Given the description of an element on the screen output the (x, y) to click on. 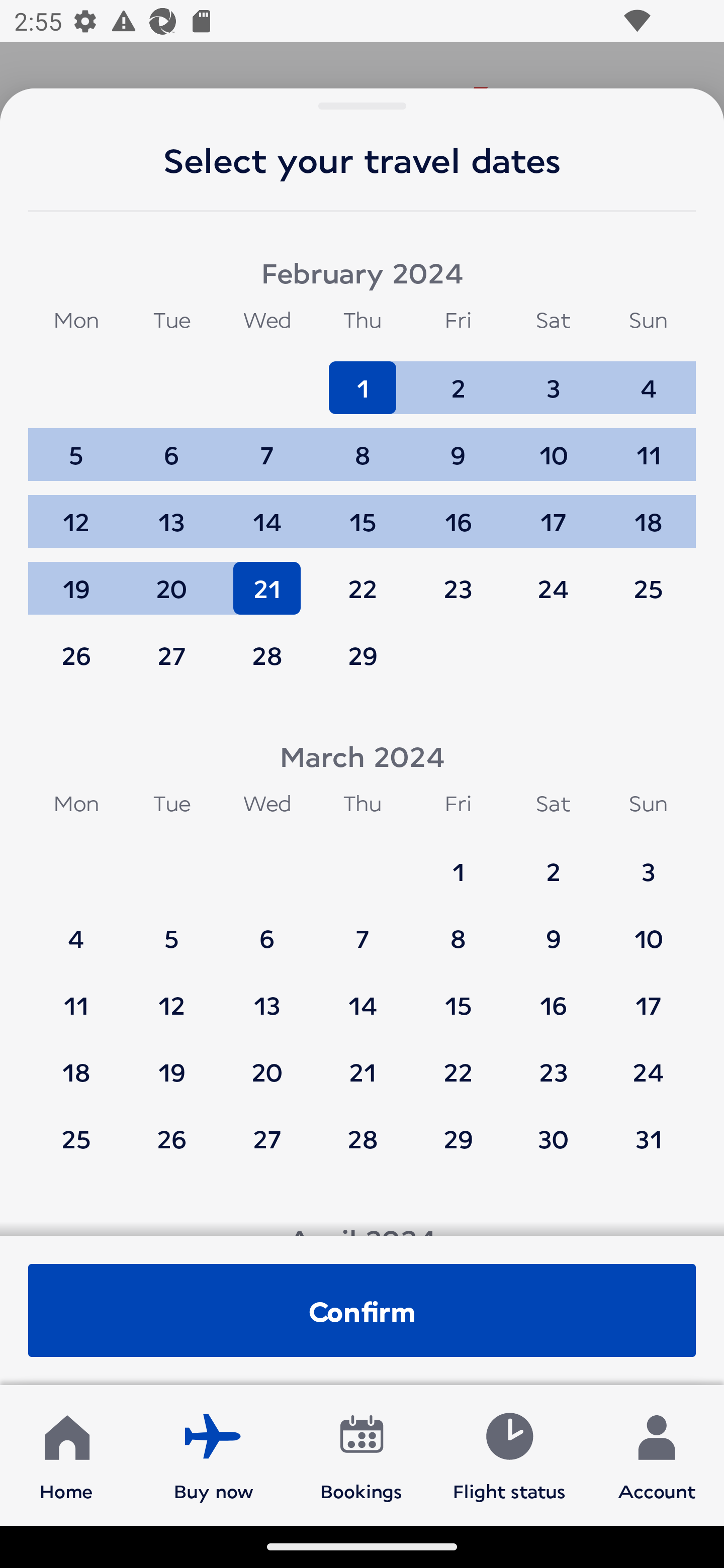
1 (362, 379)
2 (458, 379)
3 (553, 379)
4 (647, 379)
5 (75, 445)
6 (171, 445)
7 (266, 445)
8 (362, 445)
9 (458, 445)
10 (553, 445)
11 (647, 445)
12 (75, 512)
13 (171, 512)
14 (266, 512)
15 (362, 512)
16 (458, 512)
17 (553, 512)
18 (647, 512)
19 (75, 579)
20 (171, 579)
21 (266, 579)
22 (362, 579)
23 (458, 579)
24 (553, 579)
25 (647, 579)
26 (75, 655)
27 (171, 655)
28 (266, 655)
29 (362, 655)
1 (458, 862)
2 (553, 862)
3 (647, 862)
4 (75, 928)
5 (171, 928)
6 (266, 928)
7 (362, 928)
8 (458, 928)
9 (553, 928)
10 (647, 928)
11 (75, 996)
12 (171, 996)
13 (266, 996)
14 (362, 996)
15 (458, 996)
16 (553, 996)
17 (647, 996)
18 (75, 1063)
19 (171, 1063)
20 (266, 1063)
21 (362, 1063)
22 (458, 1063)
23 (553, 1063)
24 (647, 1063)
25 (75, 1138)
26 (171, 1138)
27 (266, 1138)
28 (362, 1138)
29 (458, 1138)
30 (553, 1138)
31 (647, 1138)
Confirm (361, 1309)
Home (66, 1454)
Bookings (361, 1454)
Flight status (509, 1454)
Account (657, 1454)
